Given the description of an element on the screen output the (x, y) to click on. 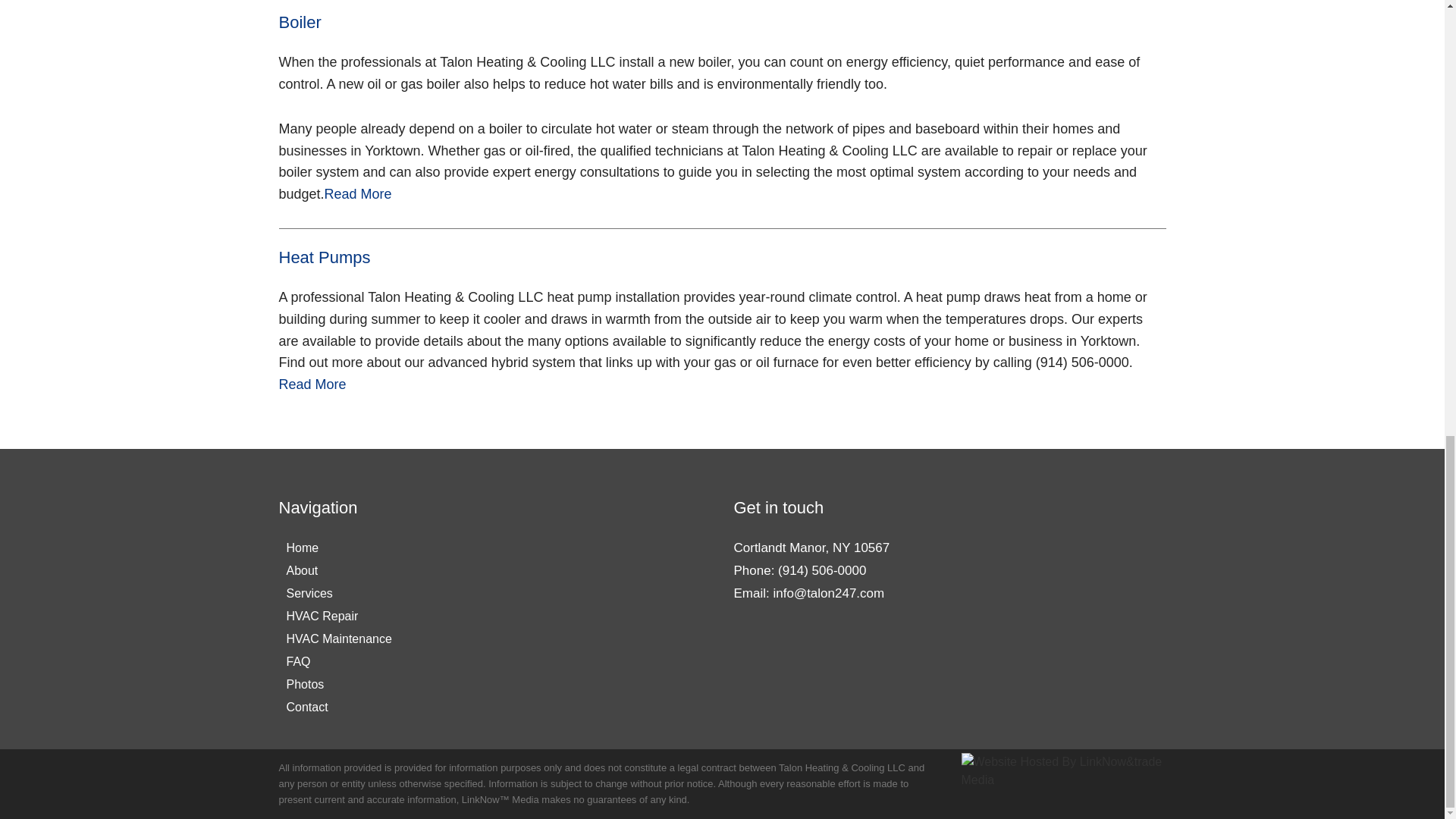
HVAC Repair (338, 616)
Read More (312, 384)
Photos (338, 684)
FAQ (338, 661)
Read More (357, 193)
Home (338, 548)
Contact (338, 707)
HVAC Maintenance (338, 639)
About (338, 570)
Services (338, 593)
